Given the description of an element on the screen output the (x, y) to click on. 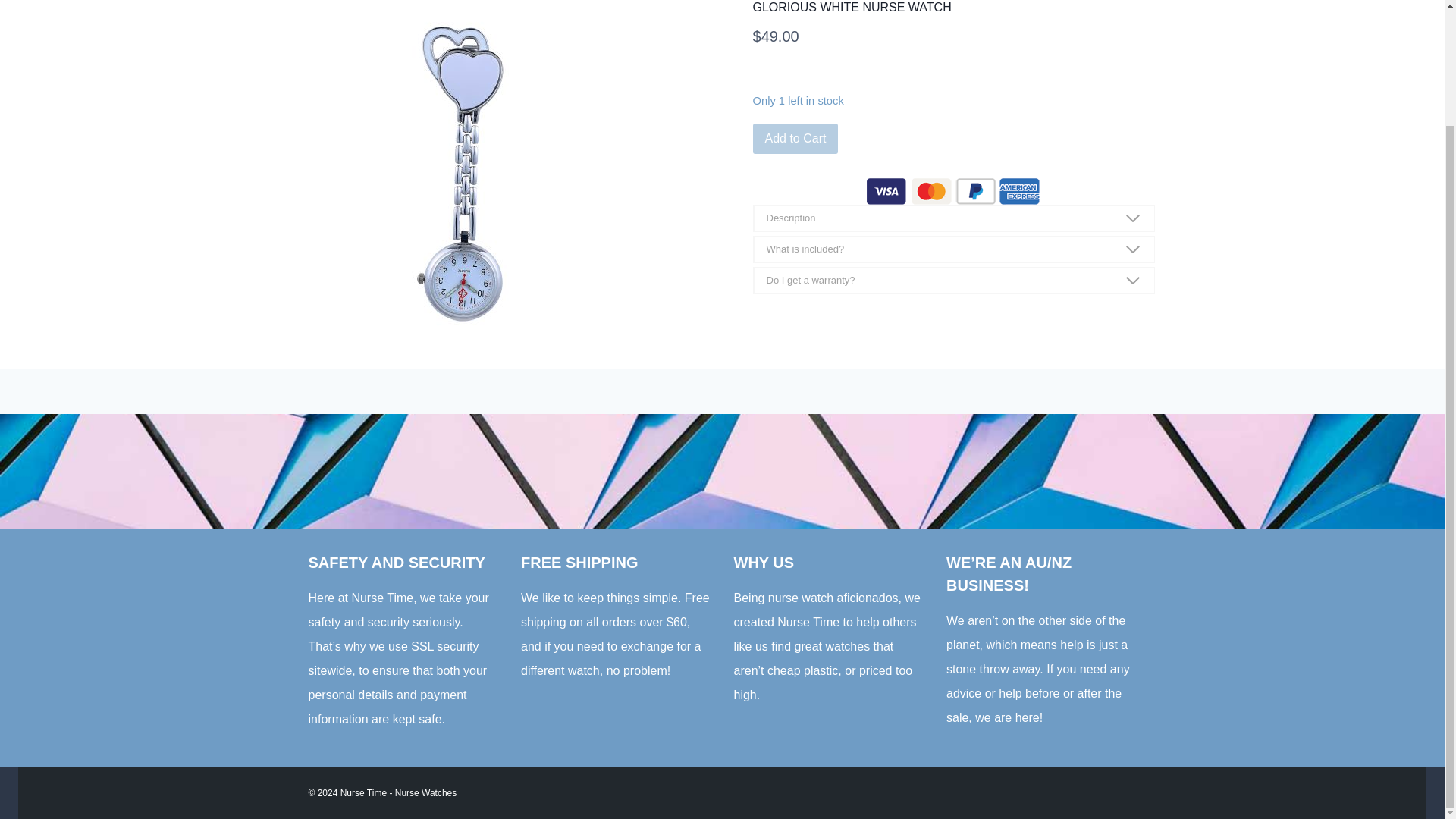
NW-003-02-GLORIOUS-WHITE-NURSE WATCH (465, 175)
Do I get a warranty? (953, 280)
What is included? (953, 248)
Description (953, 217)
Add to Cart (795, 138)
